Given the description of an element on the screen output the (x, y) to click on. 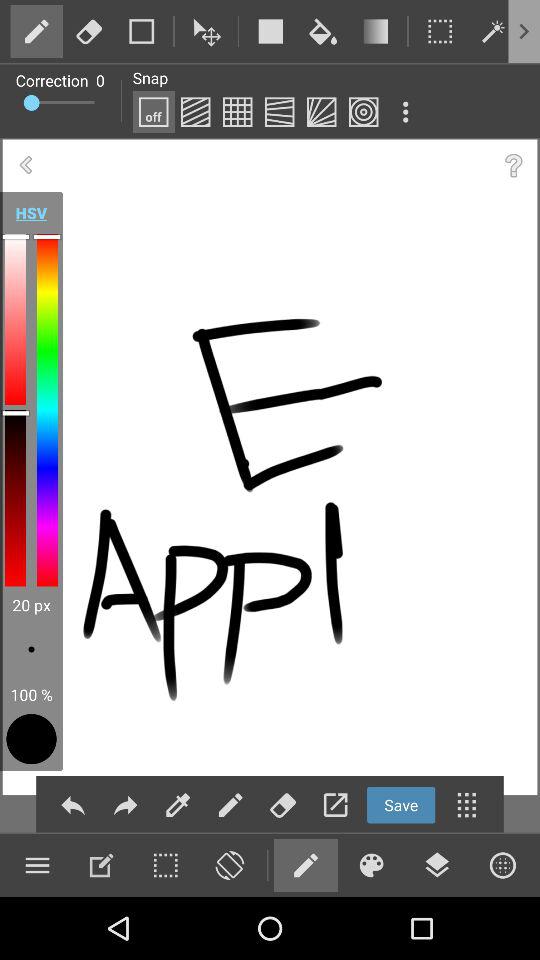
deit (177, 804)
